Given the description of an element on the screen output the (x, y) to click on. 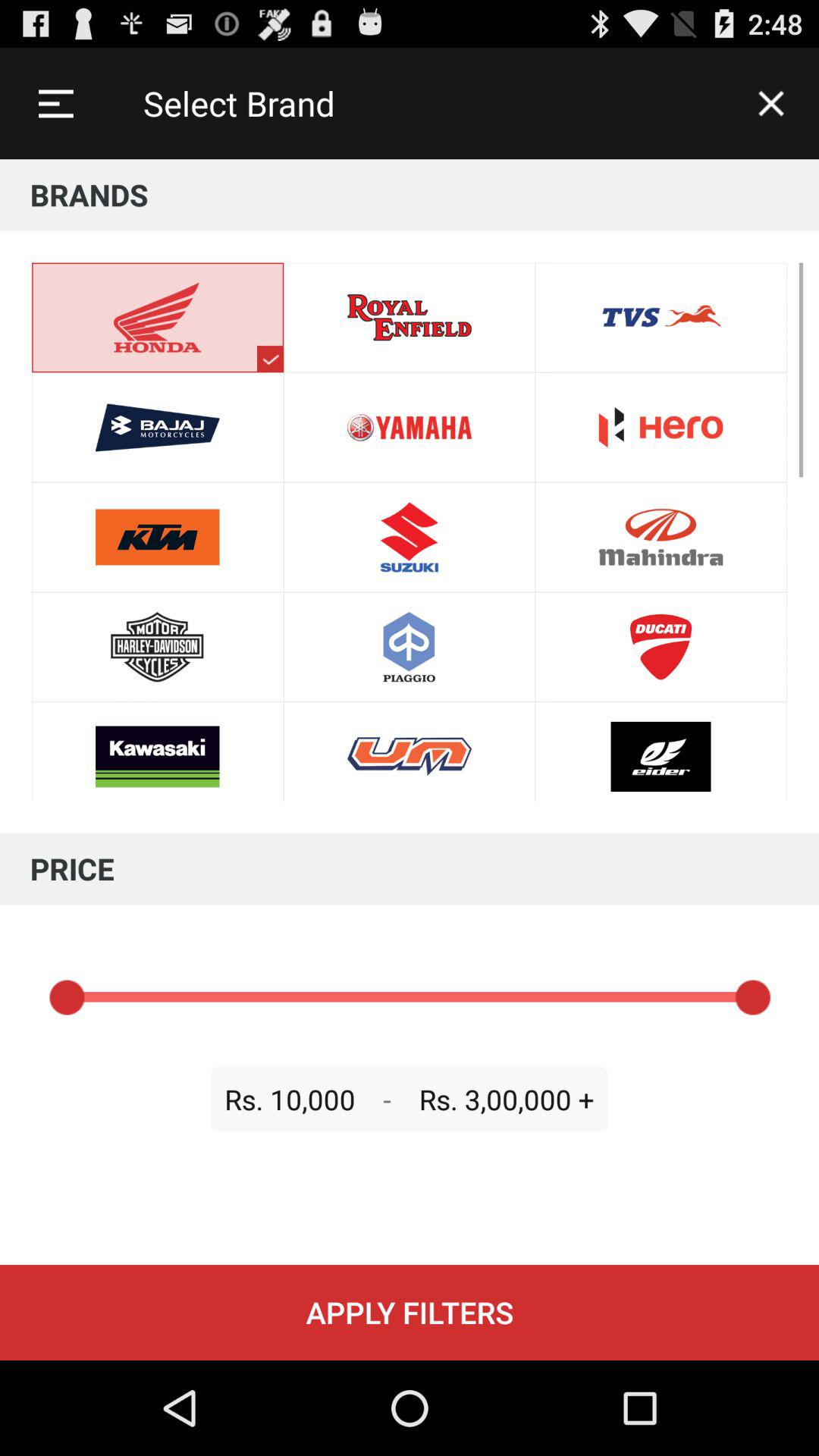
launch the icon next to select brand item (55, 103)
